Given the description of an element on the screen output the (x, y) to click on. 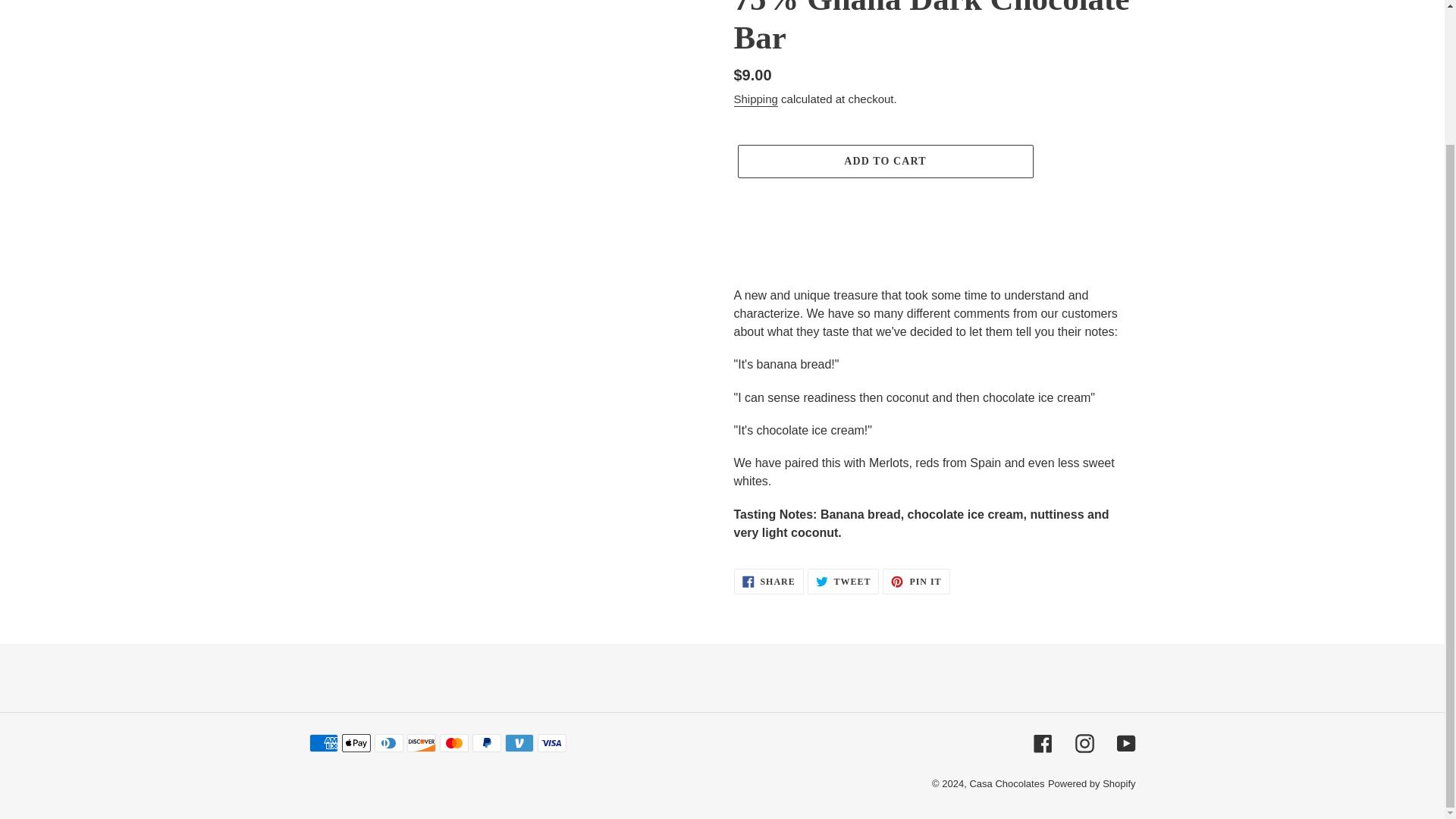
Casa Chocolates (1006, 783)
ADD TO CART (915, 581)
YouTube (884, 161)
Powered by Shopify (1125, 742)
Facebook (768, 581)
Instagram (843, 581)
Shipping (1091, 783)
